Given the description of an element on the screen output the (x, y) to click on. 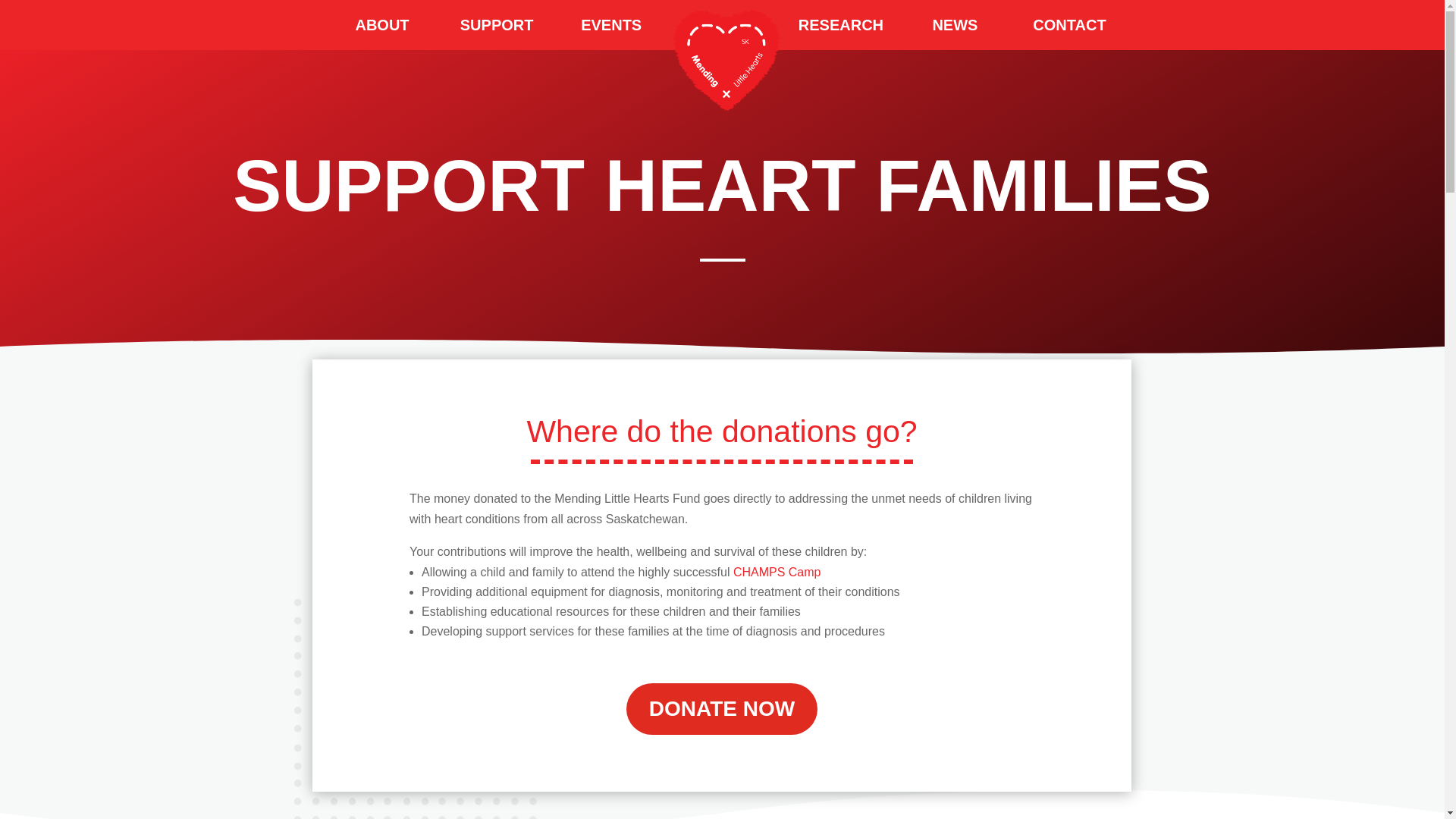
NEWS (954, 24)
CONTACT (1068, 24)
RESEARCH (840, 24)
